Given the description of an element on the screen output the (x, y) to click on. 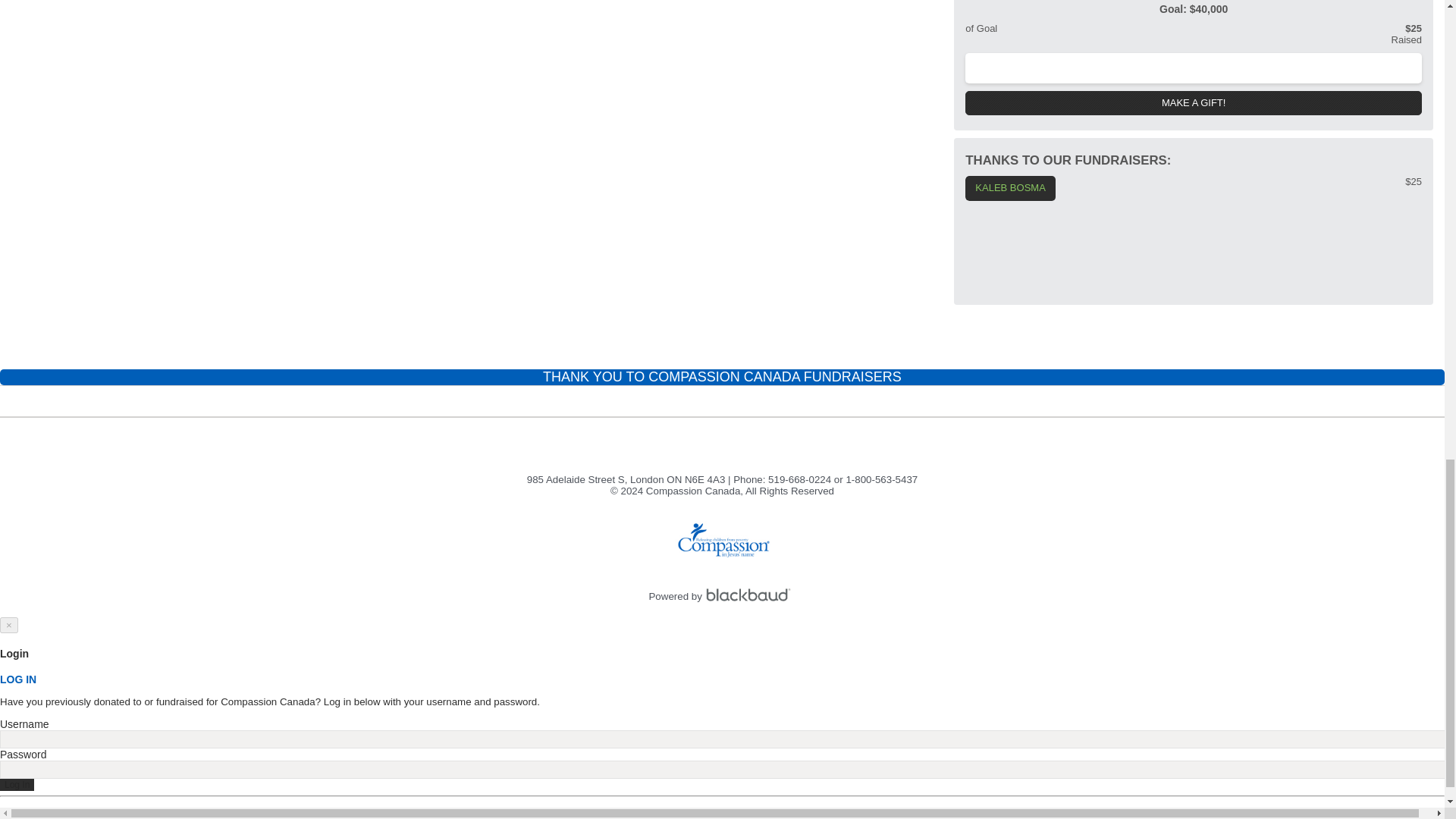
KALEB BOSMA (1009, 188)
Log In (16, 784)
MAKE A GIFT! (1193, 103)
Log In (16, 784)
Powered by Blackbaud (750, 595)
